Given the description of an element on the screen output the (x, y) to click on. 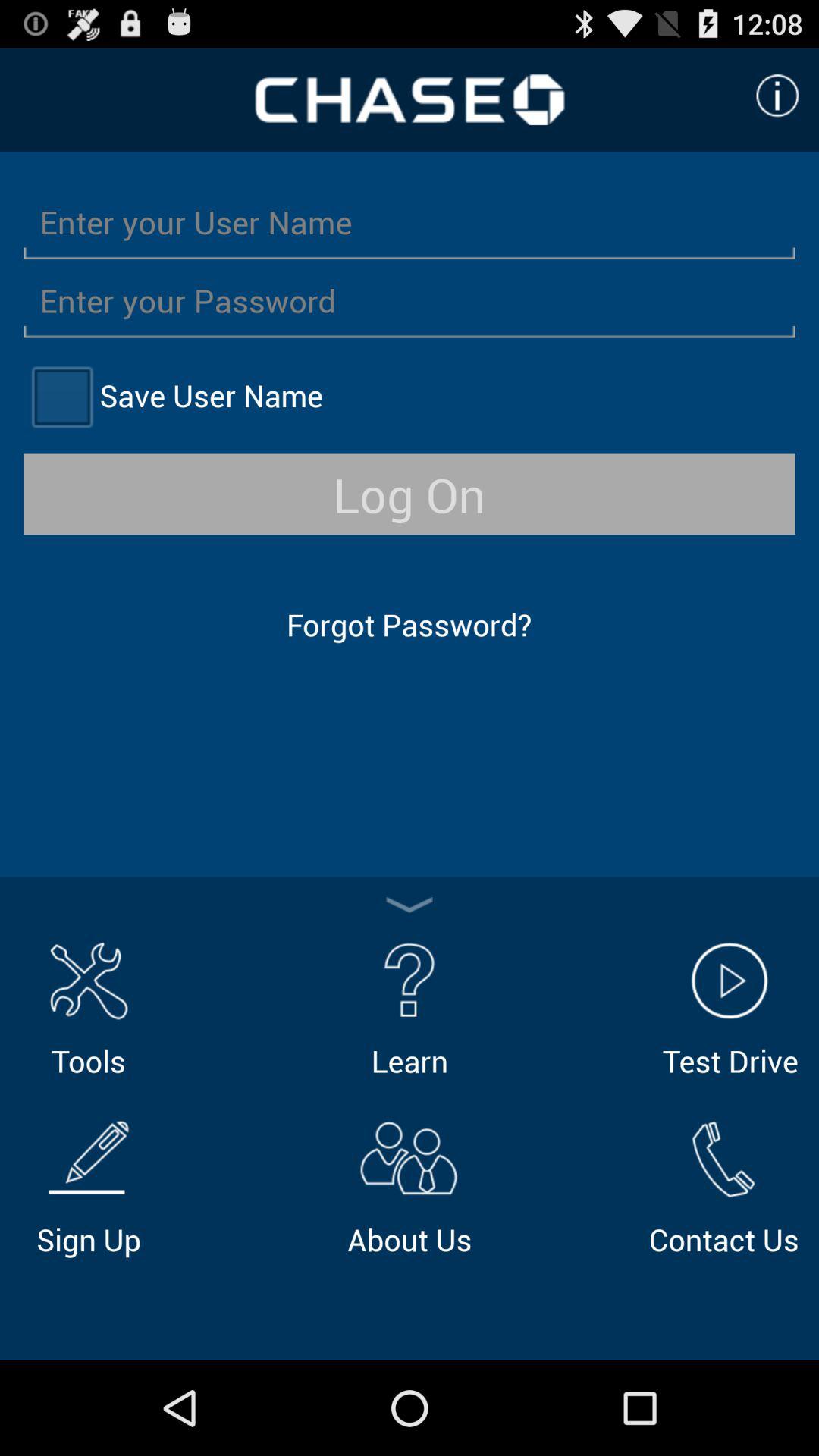
turn on the icon below the test drive (723, 1185)
